Given the description of an element on the screen output the (x, y) to click on. 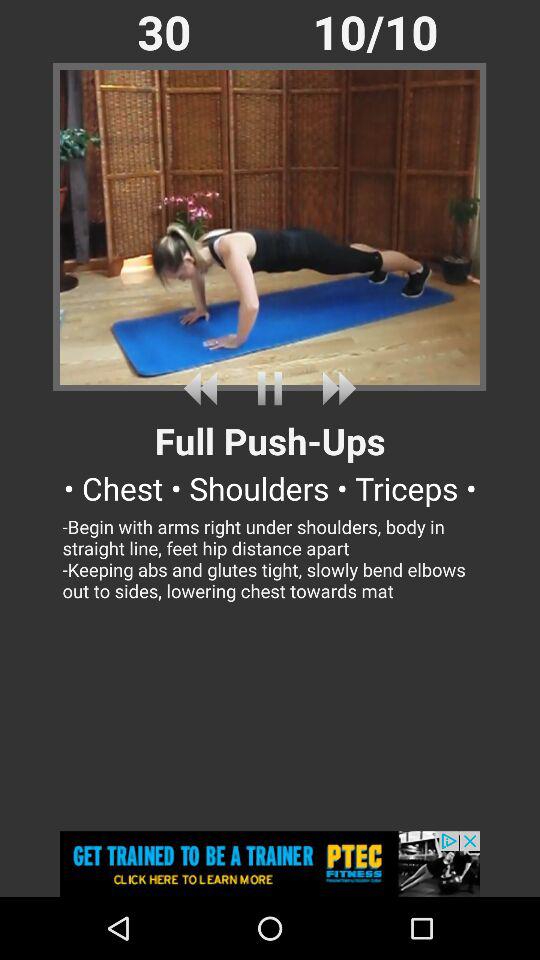
advertisements banner (270, 864)
